Given the description of an element on the screen output the (x, y) to click on. 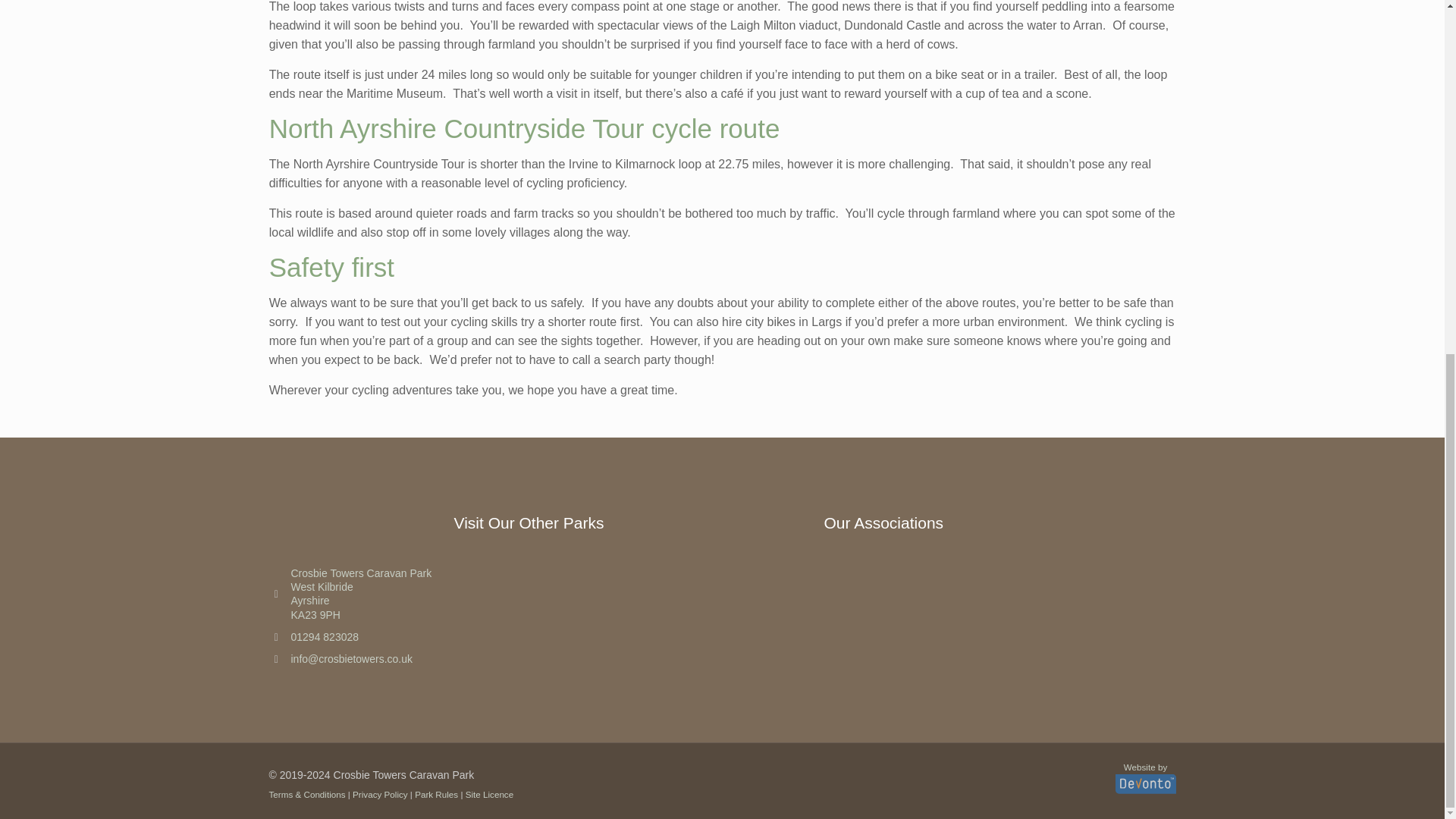
Web Developer Cumbernauld (1144, 778)
National Caravan Council (1090, 577)
Visit Millglen Lodges Website (719, 603)
Visit Seaview Caravan Park Website (531, 602)
